Given the description of an element on the screen output the (x, y) to click on. 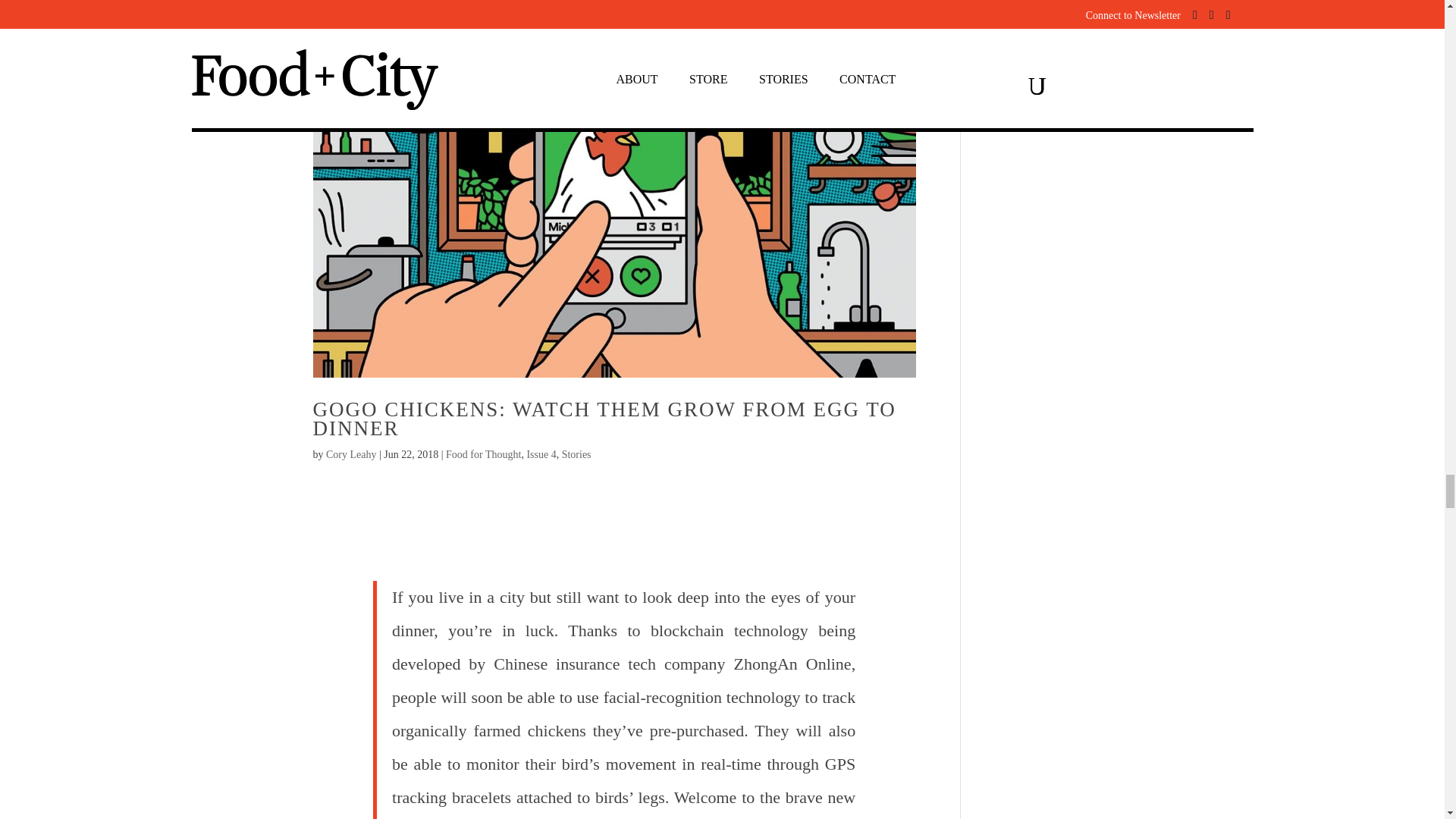
Posts by Cory Leahy (350, 454)
